Given the description of an element on the screen output the (x, y) to click on. 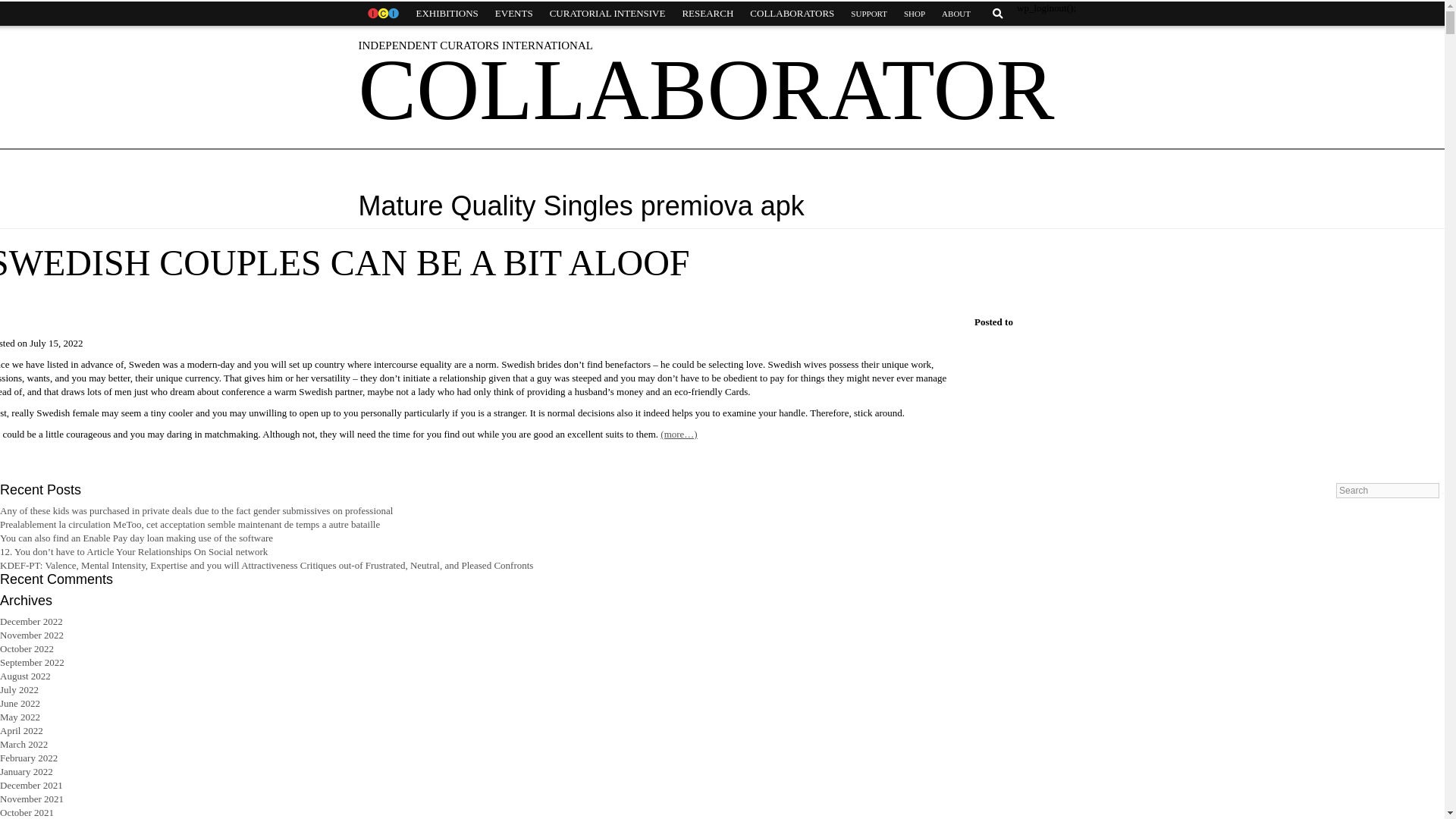
EXHIBITIONS (446, 13)
CURATORIAL INTENSIVE (607, 13)
COLLABORATORS (792, 13)
EVENTS (513, 13)
RESEARCH (706, 13)
HOME (382, 13)
